Given the description of an element on the screen output the (x, y) to click on. 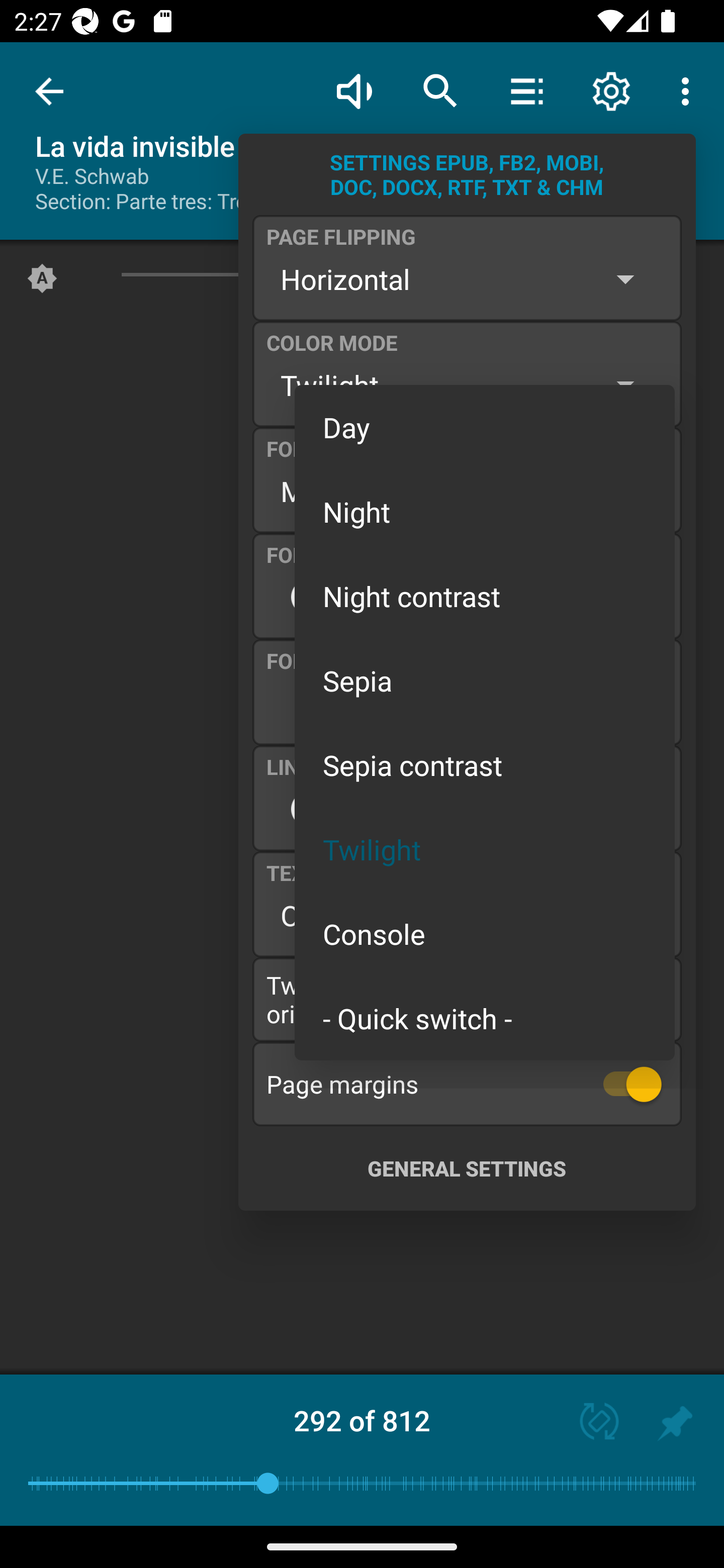
Day (484, 426)
Night (484, 510)
Night contrast (484, 595)
Sepia (484, 680)
Sepia contrast (484, 764)
Twilight (484, 849)
Console (484, 933)
- Quick switch - (484, 1017)
